Given the description of an element on the screen output the (x, y) to click on. 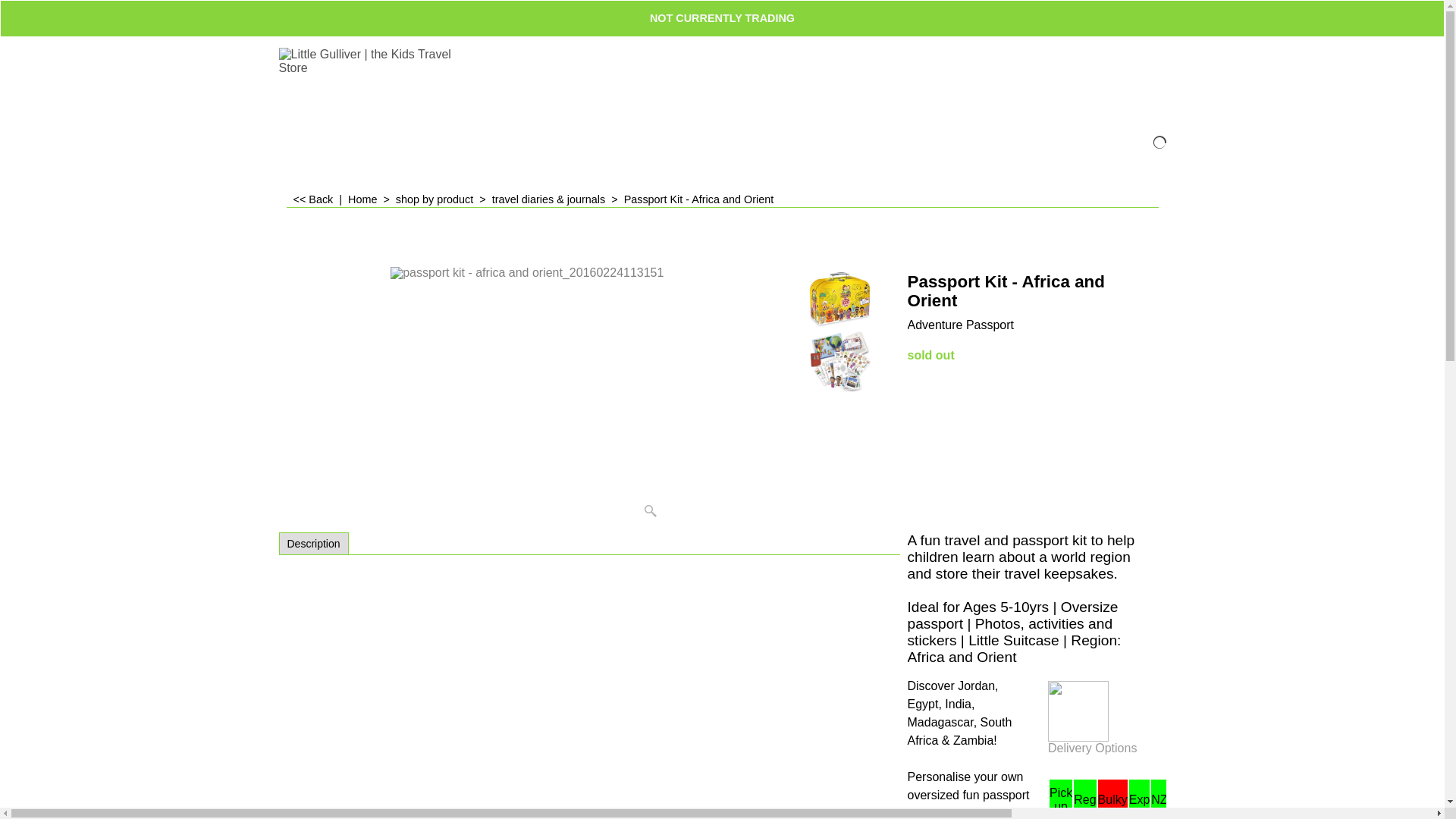
Description Element type: text (312, 543)
passport kit - africa and orient - contents Element type: hover (839, 361)
Little Gulliver | the Kids Travel Store Element type: hover (392, 85)
Home  >  Element type: text (371, 199)
passport kit - africa and orient_20160224113151 Element type: hover (526, 395)
shop by product  >  Element type: text (443, 199)
Little Gulliver | the Kids Travel Store Element type: hover (377, 85)
travel diaries & journals  >  Element type: text (558, 199)
Passport Kit - Africa and Orient Element type: text (1031, 306)
passport kit - africa and orient - contents Element type: hover (839, 361)
 << Back  Element type: text (312, 199)
